Given the description of an element on the screen output the (x, y) to click on. 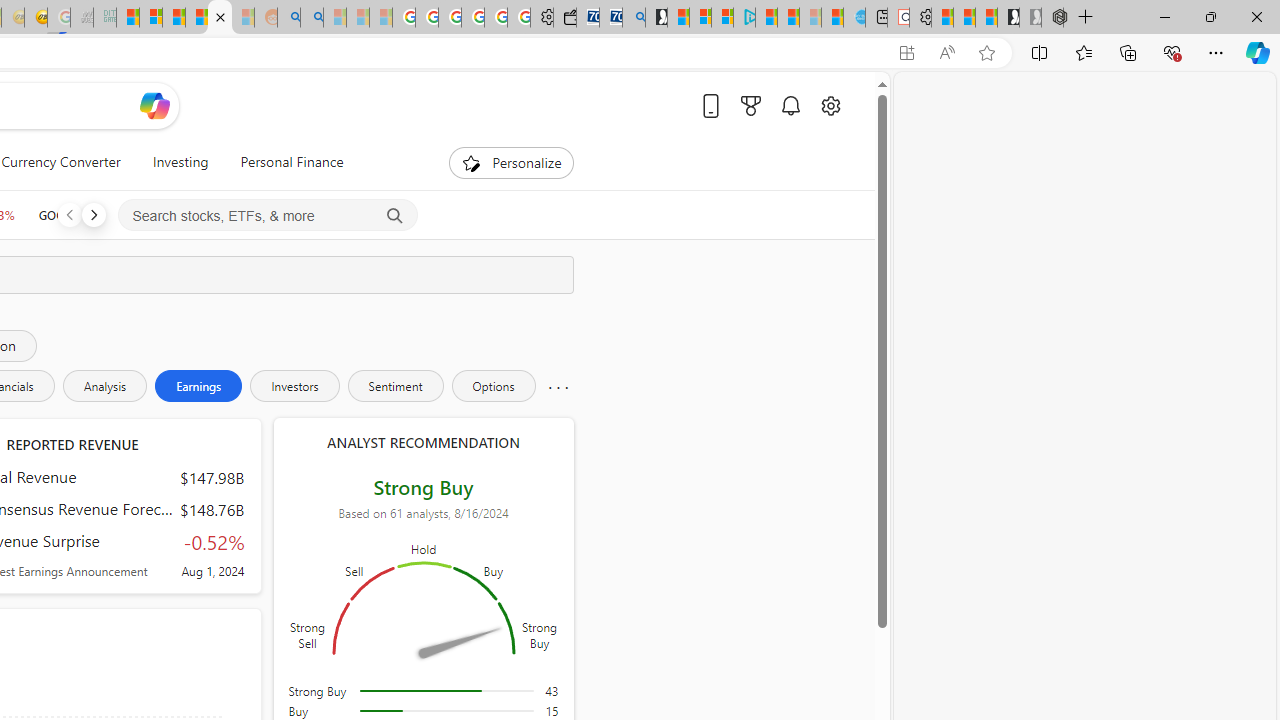
Wallet (564, 17)
Earnings (198, 385)
Search stocks, ETFs, & more (267, 215)
Investors (294, 385)
Notifications (790, 105)
Home | Sky Blue Bikes - Sky Blue Bikes (854, 17)
